Given the description of an element on the screen output the (x, y) to click on. 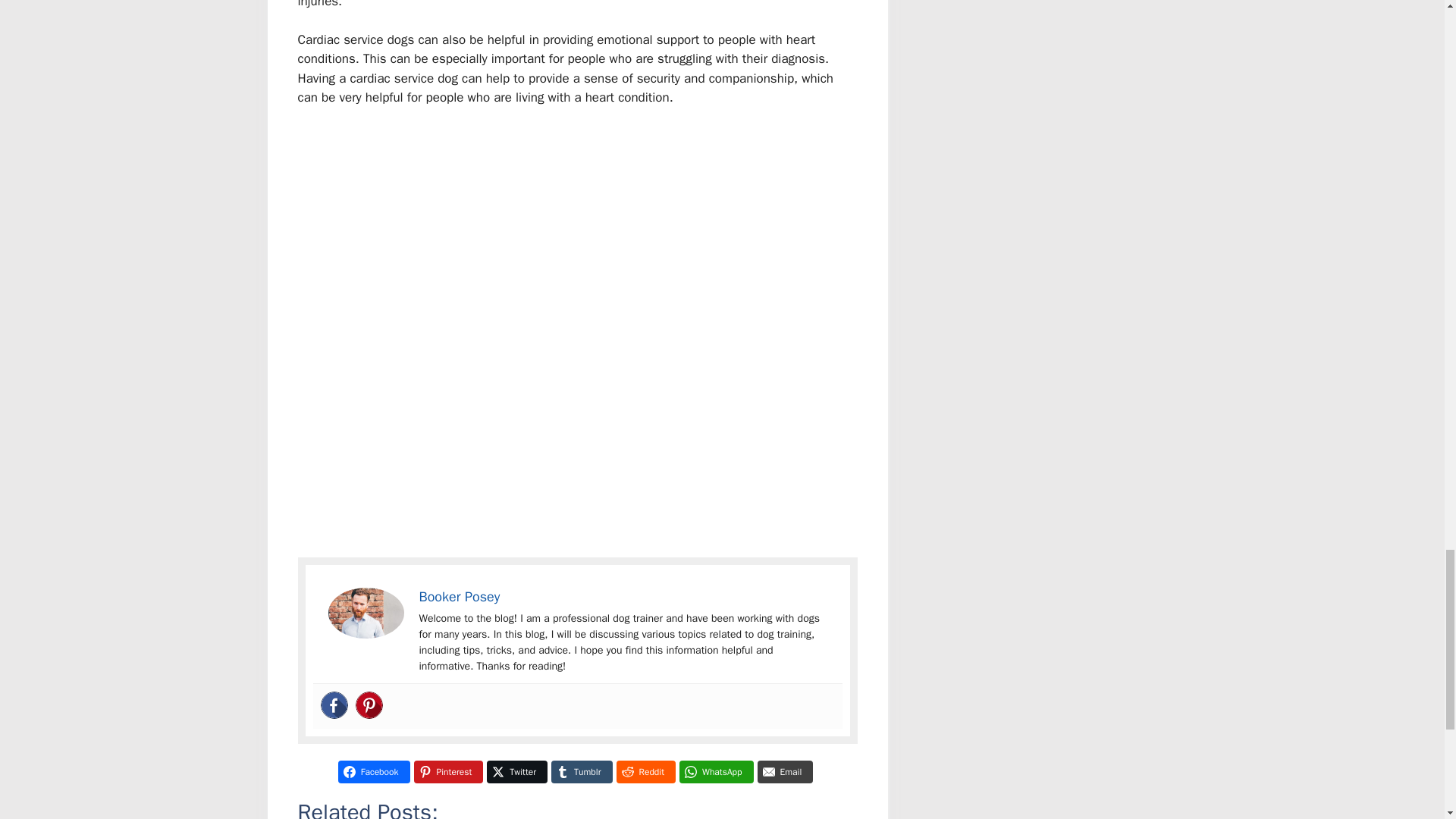
Share on Pinterest (448, 771)
Share on WhatsApp (716, 771)
What Do You Call A Service Dog Trainer 2 (365, 613)
Share on Facebook (373, 771)
Pinterest (368, 705)
Facebook (333, 705)
Share on Email (785, 771)
Share on Tumblr (581, 771)
Share on Twitter (516, 771)
Share on Reddit (645, 771)
